Given the description of an element on the screen output the (x, y) to click on. 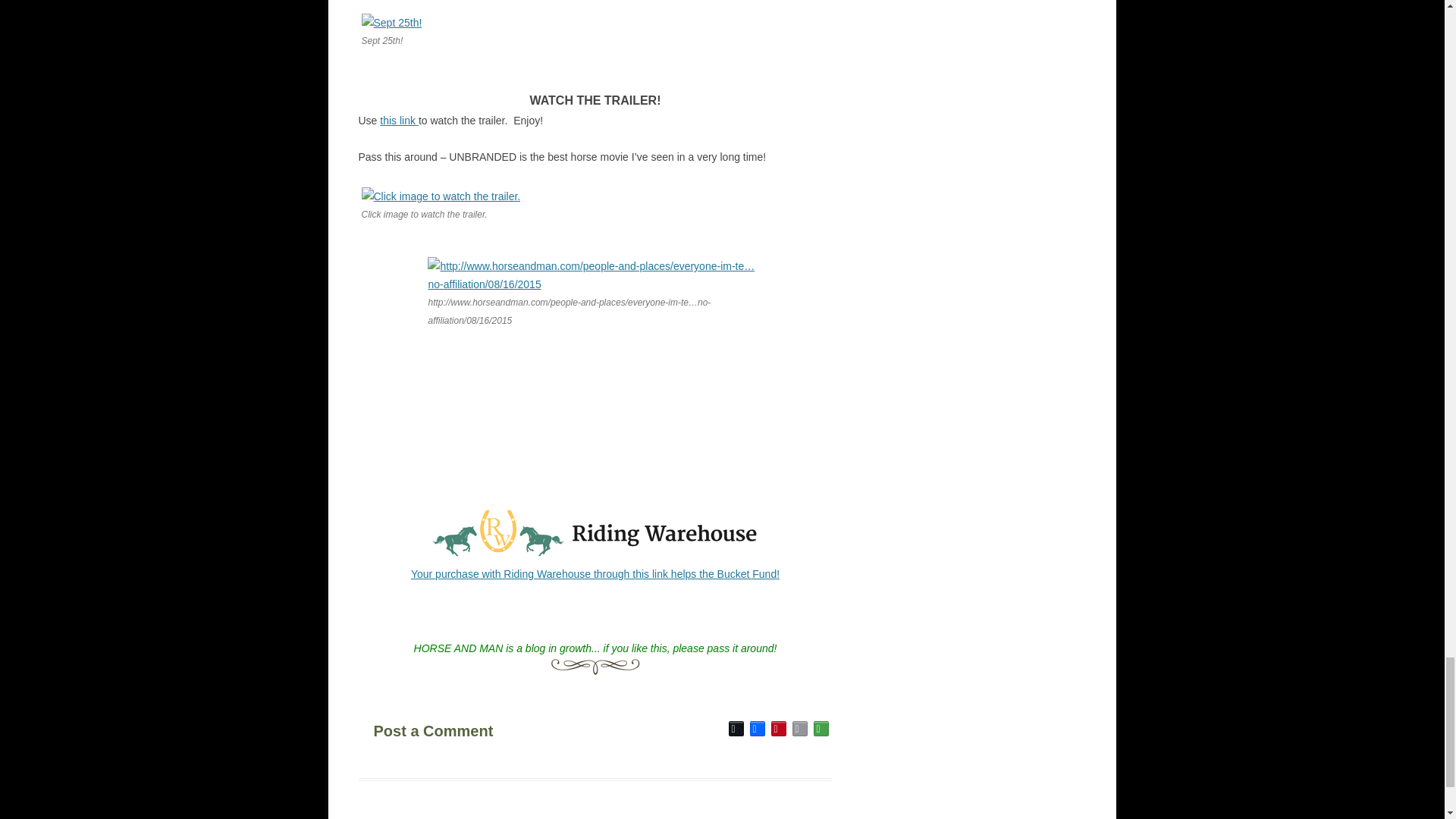
Facebook (757, 728)
Email This (799, 728)
Help The Bucket Fund with your purchase! (594, 573)
Help The Bucket Fund with your purchase! (594, 555)
this link (399, 120)
Pinterest (778, 728)
